Given the description of an element on the screen output the (x, y) to click on. 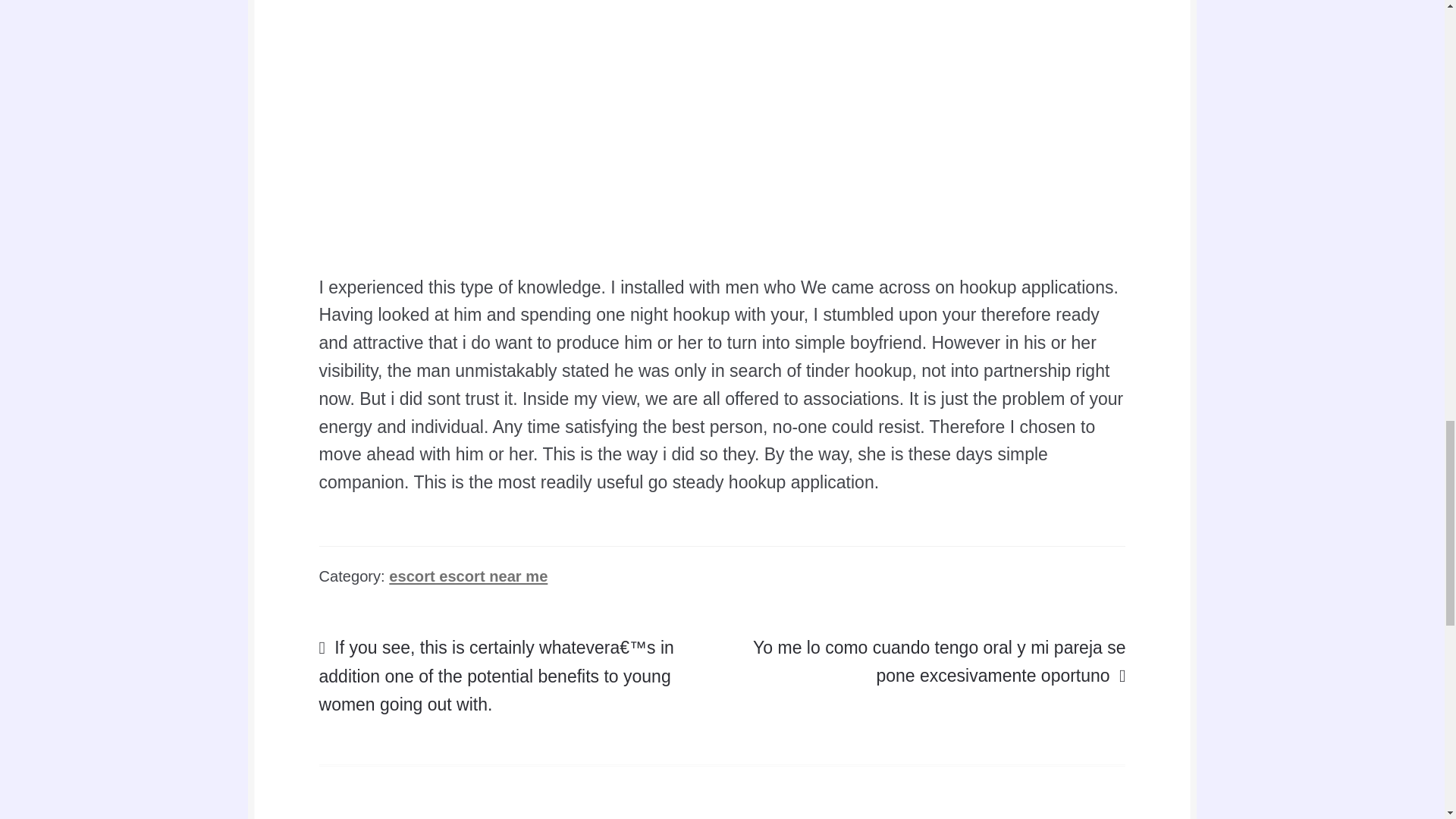
escort escort near me (467, 576)
